Given the description of an element on the screen output the (x, y) to click on. 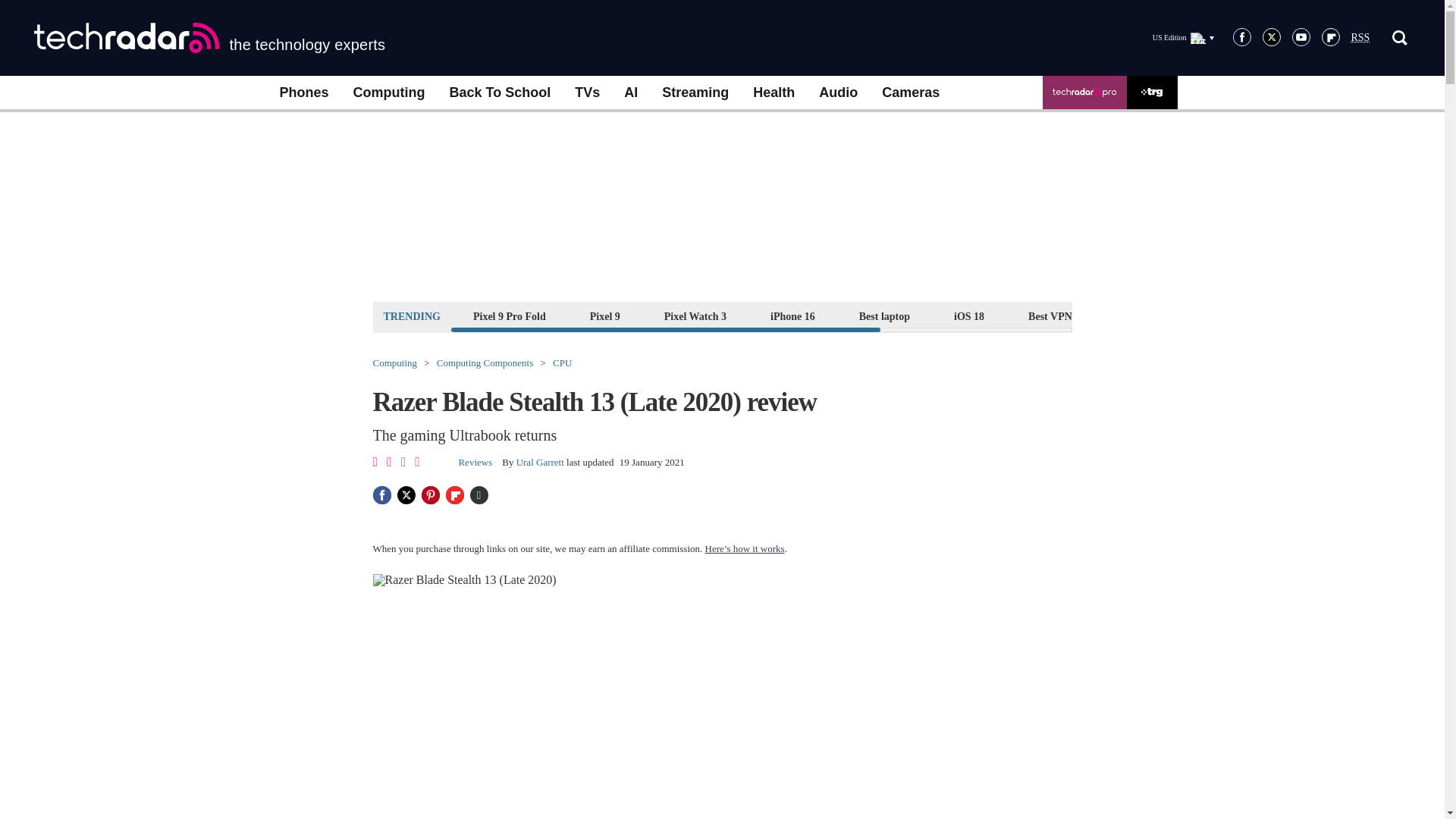
Back To School (499, 92)
the technology experts (209, 38)
Computing (389, 92)
AI (630, 92)
US Edition (1182, 37)
Health (773, 92)
Streaming (695, 92)
Really Simple Syndication (1360, 37)
Cameras (910, 92)
TVs (586, 92)
